Given the description of an element on the screen output the (x, y) to click on. 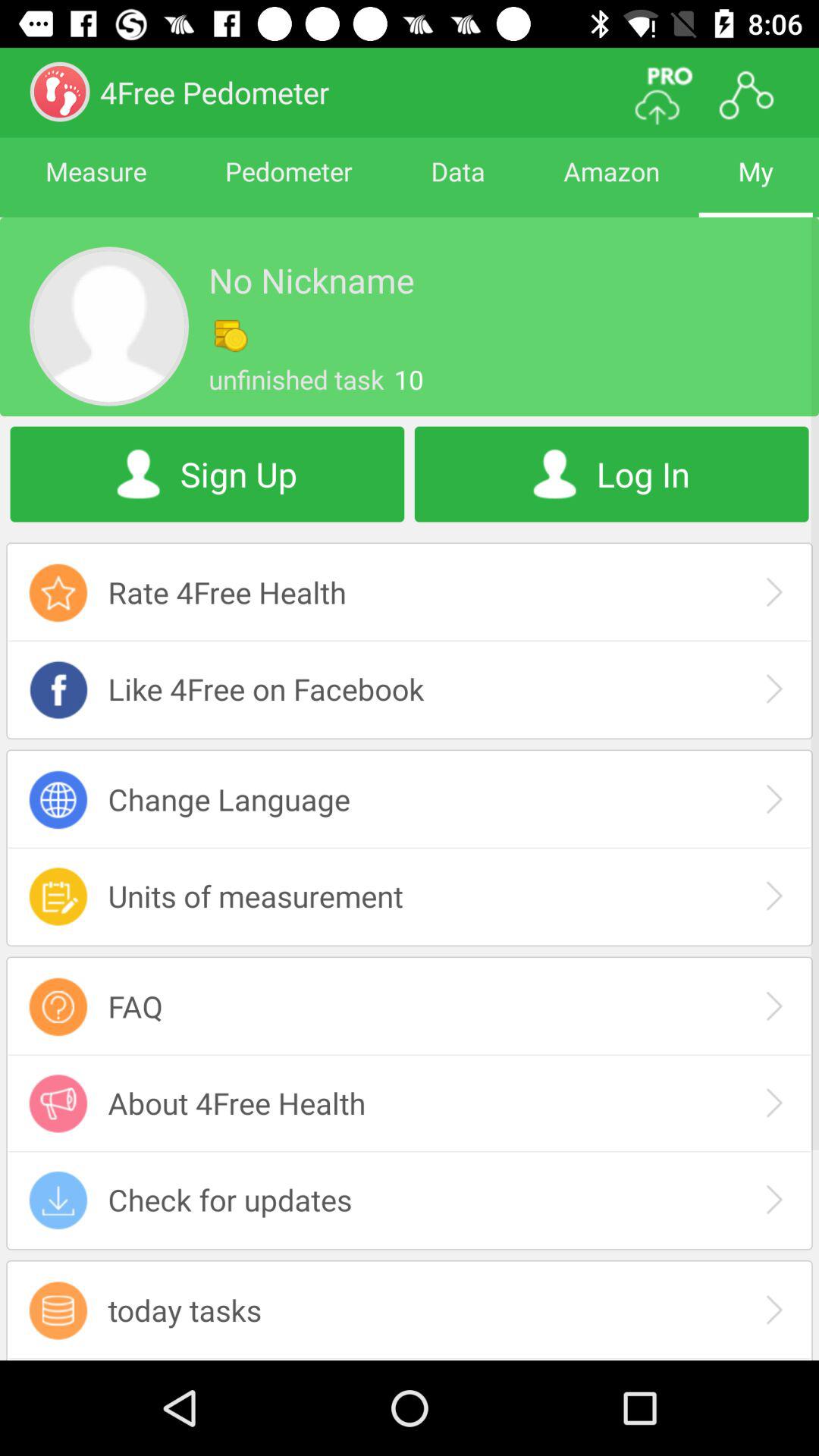
scroll until change language item (409, 799)
